Given the description of an element on the screen output the (x, y) to click on. 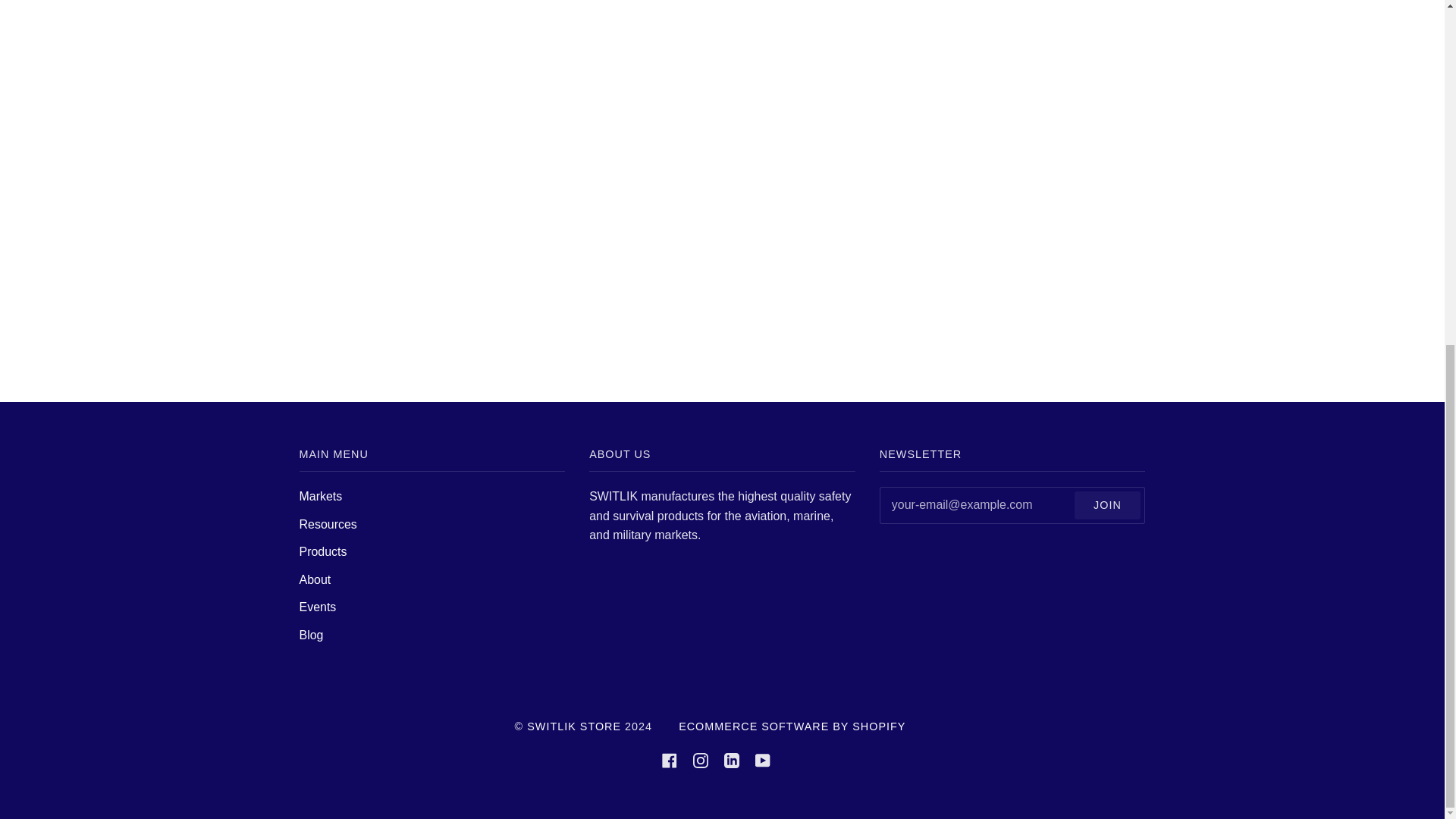
Facebook (669, 758)
YouTube (762, 758)
Linkedin (731, 758)
Instagram (700, 758)
